Given the description of an element on the screen output the (x, y) to click on. 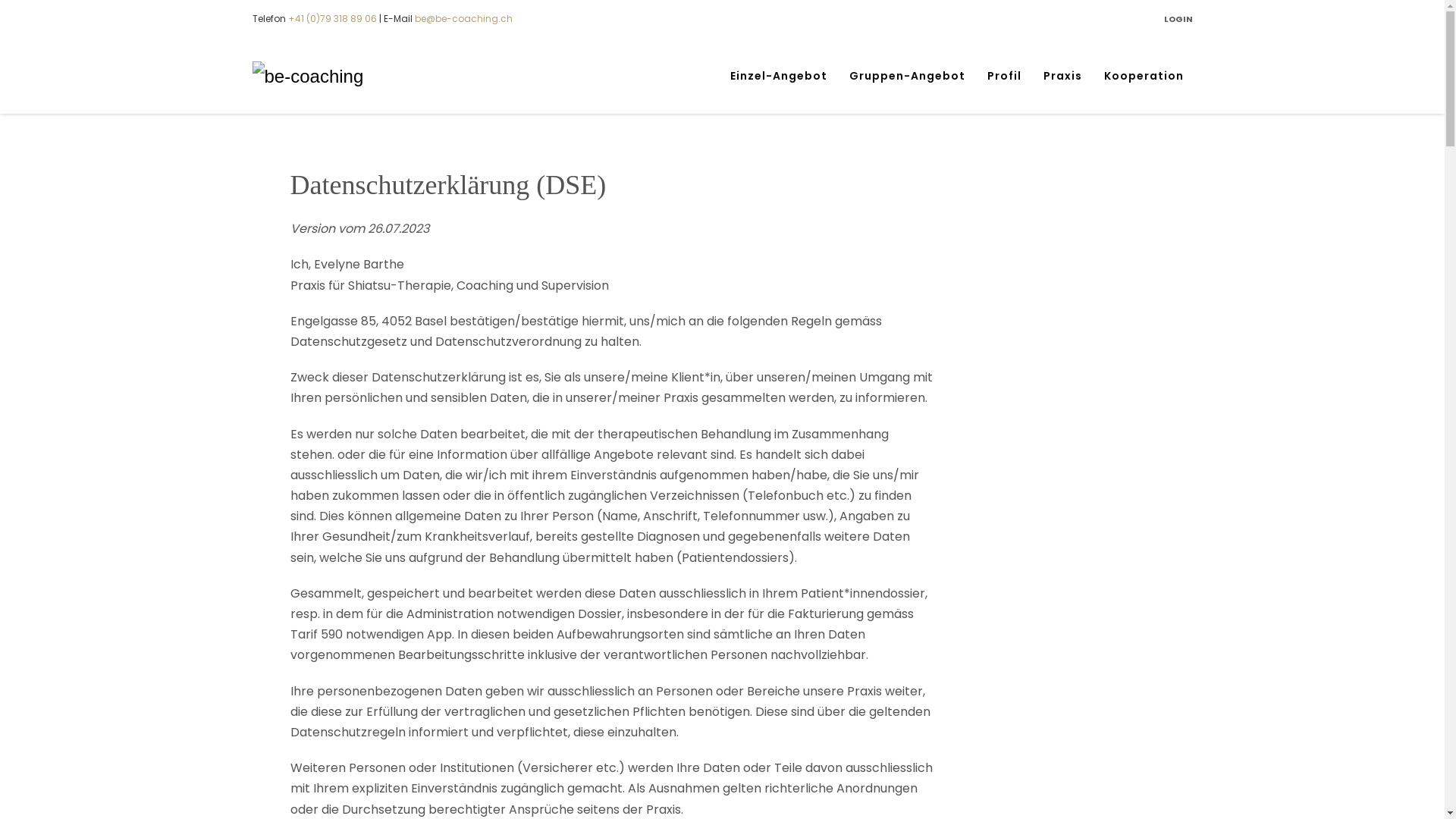
Kooperation Element type: text (1143, 75)
+41 (0)79 318 89 06 Element type: text (332, 18)
Einzel-Angebot Element type: text (777, 75)
be@be-coaching.ch Element type: text (462, 18)
Praxis Element type: text (1062, 75)
Profil Element type: text (1004, 75)
LOGIN Element type: text (1177, 18)
Gruppen-Angebot Element type: text (907, 75)
